Given the description of an element on the screen output the (x, y) to click on. 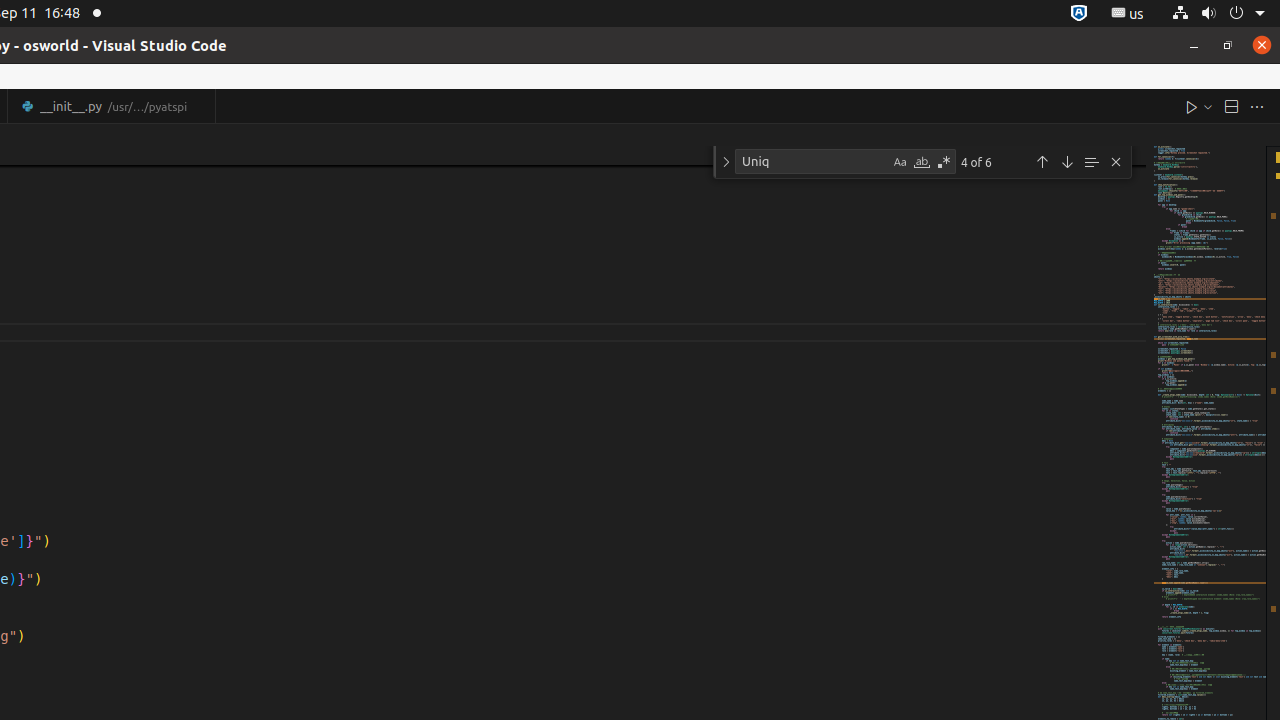
Find in Selection (Alt+L) Element type: check-box (1091, 161)
Next Match (Enter) Element type: push-button (1067, 161)
:1.21/StatusNotifierItem Element type: menu (1127, 13)
Run Python File Element type: push-button (1192, 106)
Match Whole Word (Alt+W) Element type: check-box (922, 162)
